Given the description of an element on the screen output the (x, y) to click on. 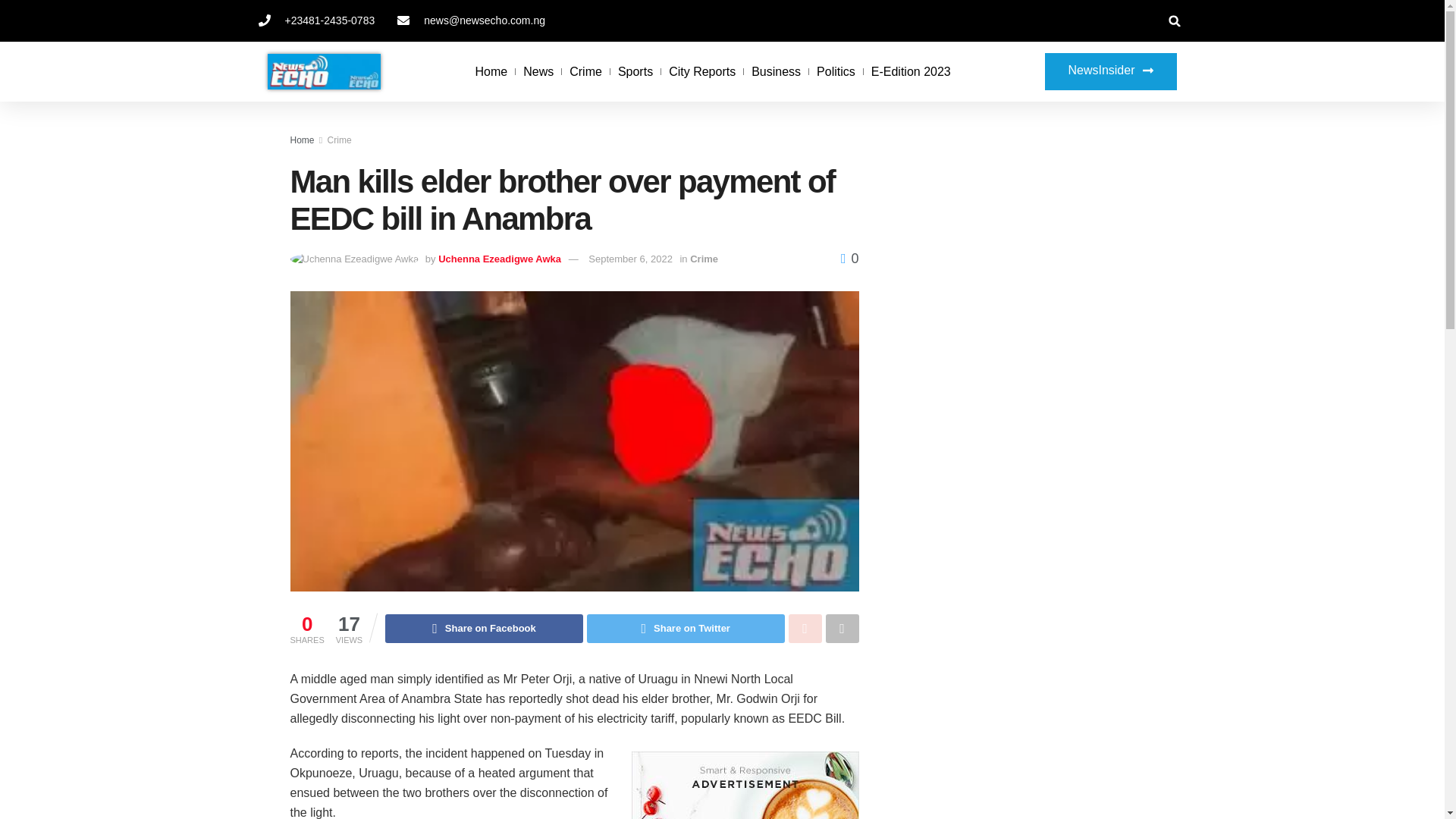
E-Edition 2023 (910, 70)
Politics (836, 70)
Advertisement (1023, 245)
NewsInsider (1110, 71)
Business (775, 70)
Advertisement (1023, 491)
News (537, 70)
Home (492, 70)
Crime (585, 70)
Sports (634, 70)
City Reports (701, 70)
